Given the description of an element on the screen output the (x, y) to click on. 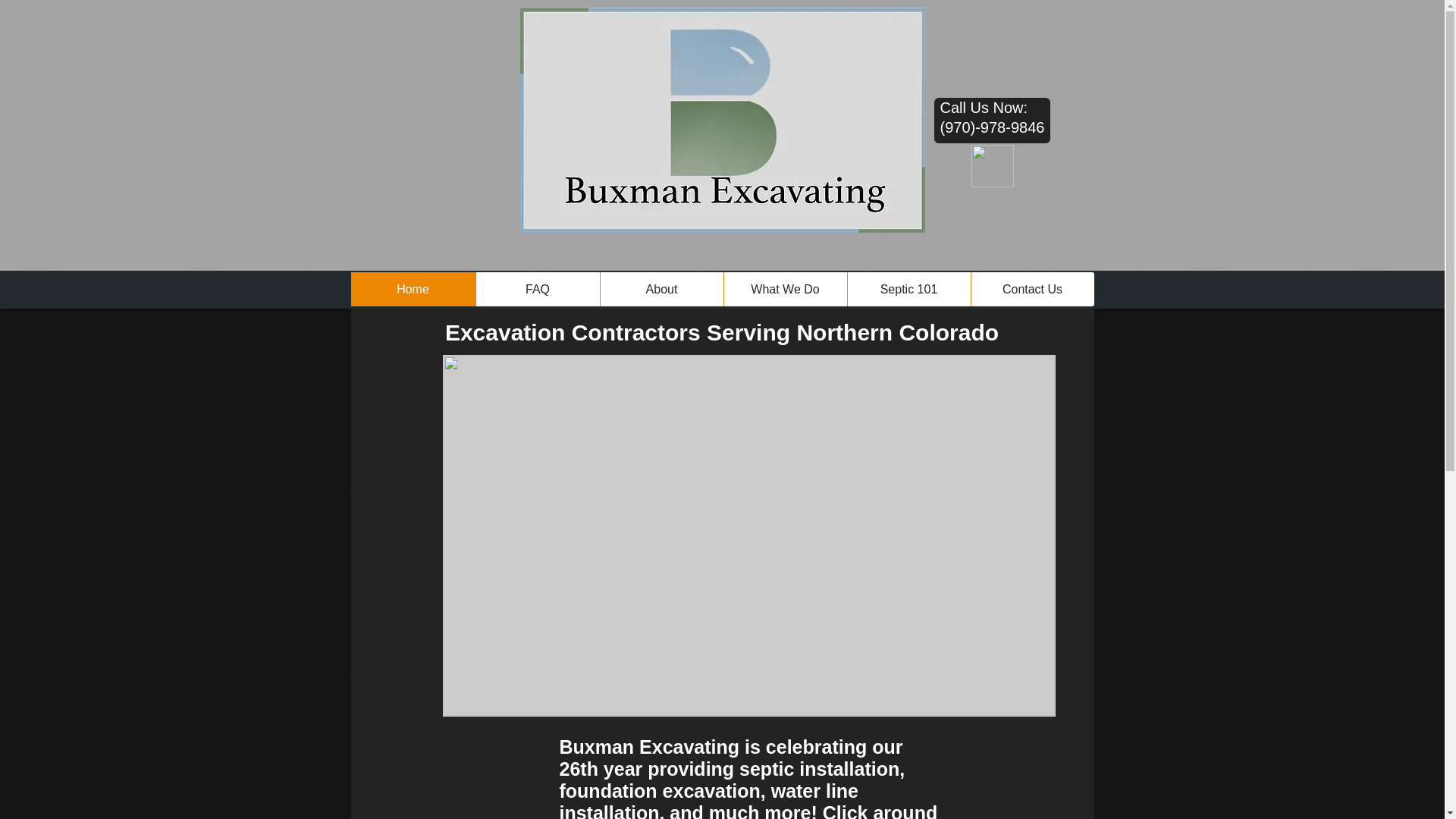
Home (412, 288)
Septic 101 (907, 288)
Contact Us (1032, 288)
About (660, 288)
What We Do (785, 288)
FAQ (536, 288)
